Given the description of an element on the screen output the (x, y) to click on. 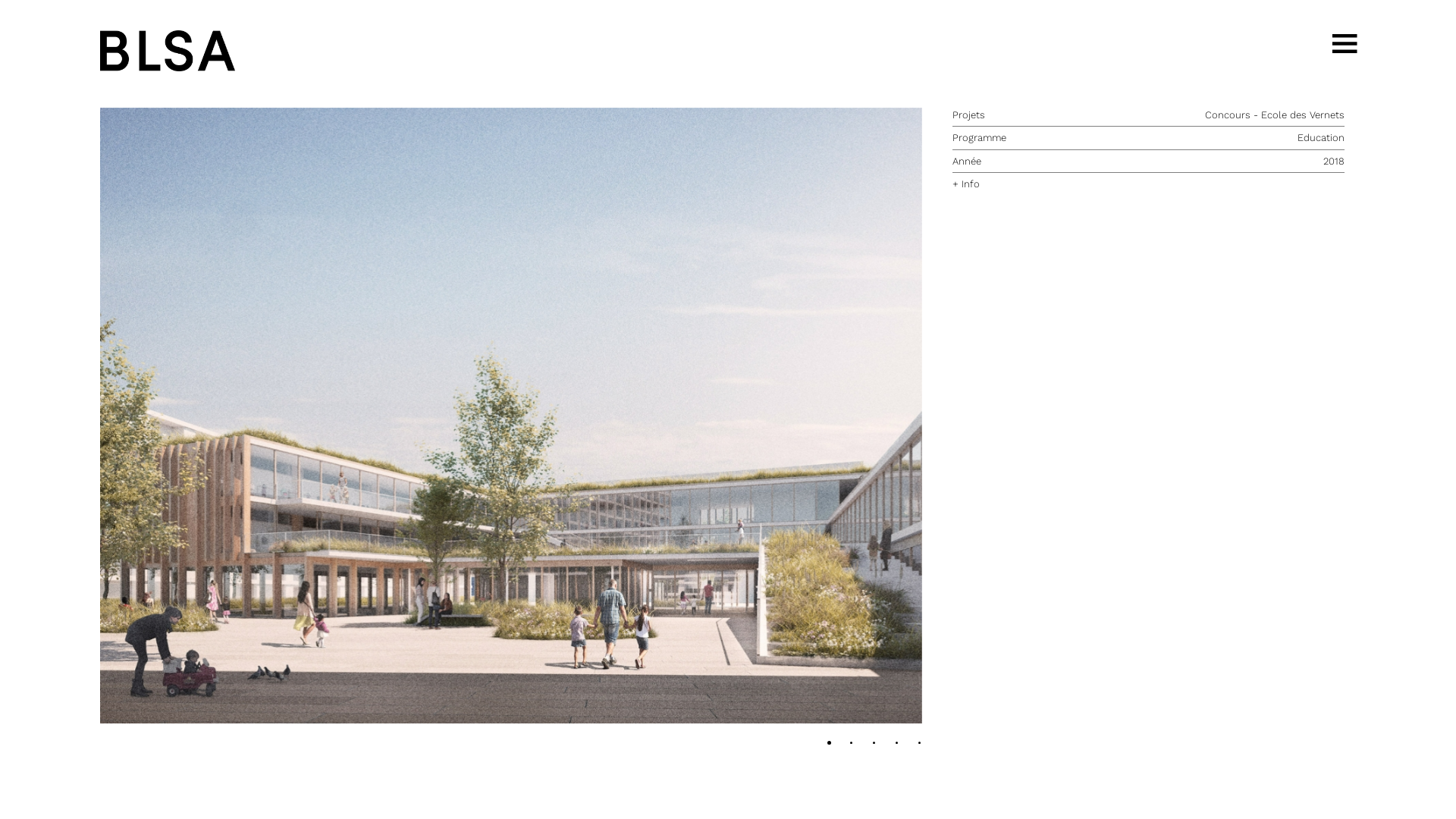
2 Element type: text (876, 745)
0 Element type: text (830, 745)
Next Element type: text (511, 415)
home Element type: hover (166, 49)
4 Element type: text (921, 745)
3 Element type: text (899, 745)
1 Element type: text (853, 745)
